Given the description of an element on the screen output the (x, y) to click on. 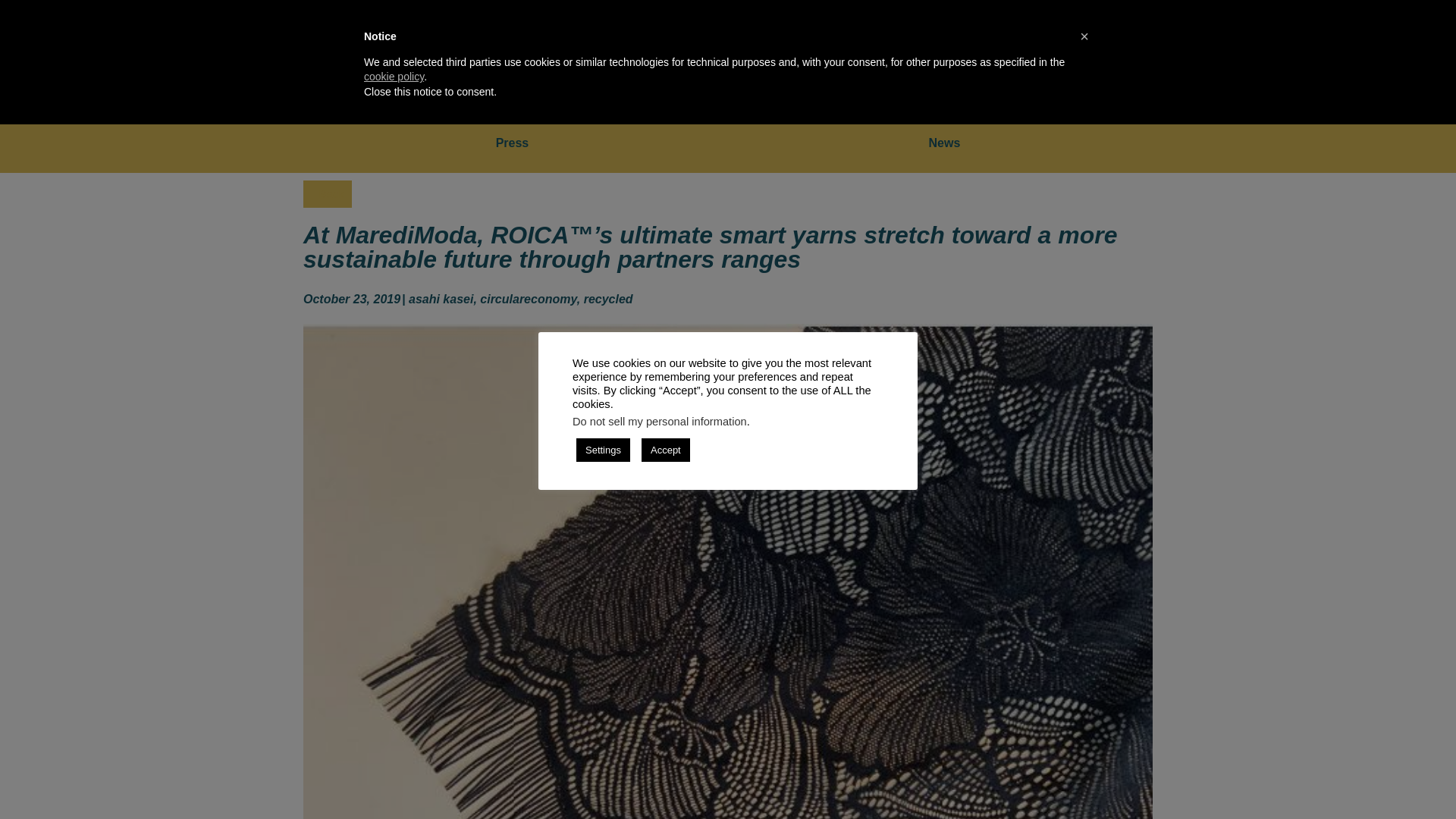
Back (327, 194)
About us (924, 56)
Community (1249, 56)
recycled (608, 298)
October 23, 2019 (351, 299)
Media (1338, 56)
Press (512, 143)
circulareconomy (528, 298)
Academy (1015, 56)
0 (1394, 56)
asahi kasei (441, 298)
News (944, 143)
